Given the description of an element on the screen output the (x, y) to click on. 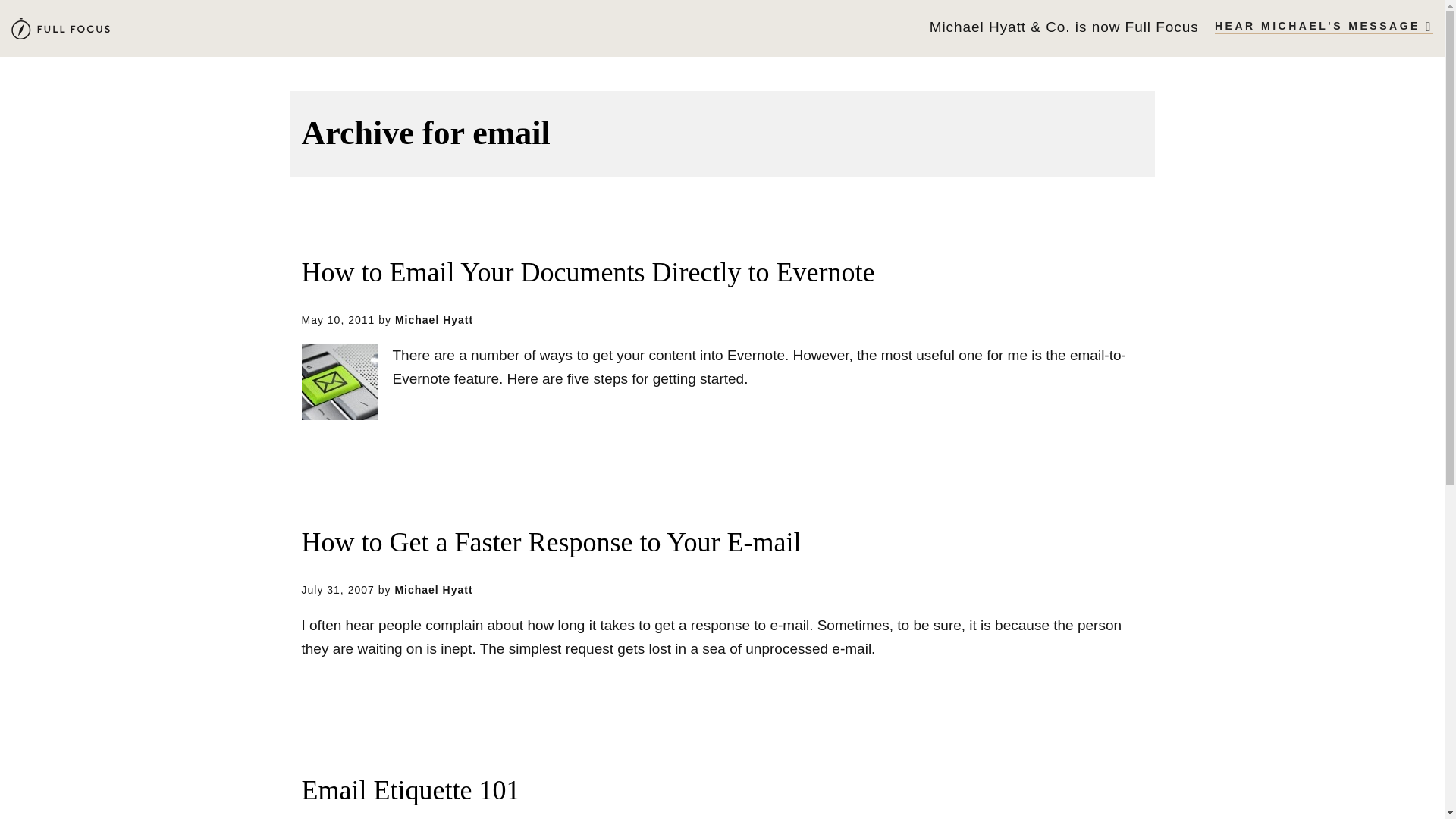
How to Get a Faster Response to Your E-mail (551, 542)
Michael Hyatt (432, 589)
Michael Hyatt (433, 319)
HEAR MICHAEL'S MESSAGE (1323, 26)
How to Email Your Documents Directly to Evernote (588, 273)
Michael Hyatt (60, 28)
